Given the description of an element on the screen output the (x, y) to click on. 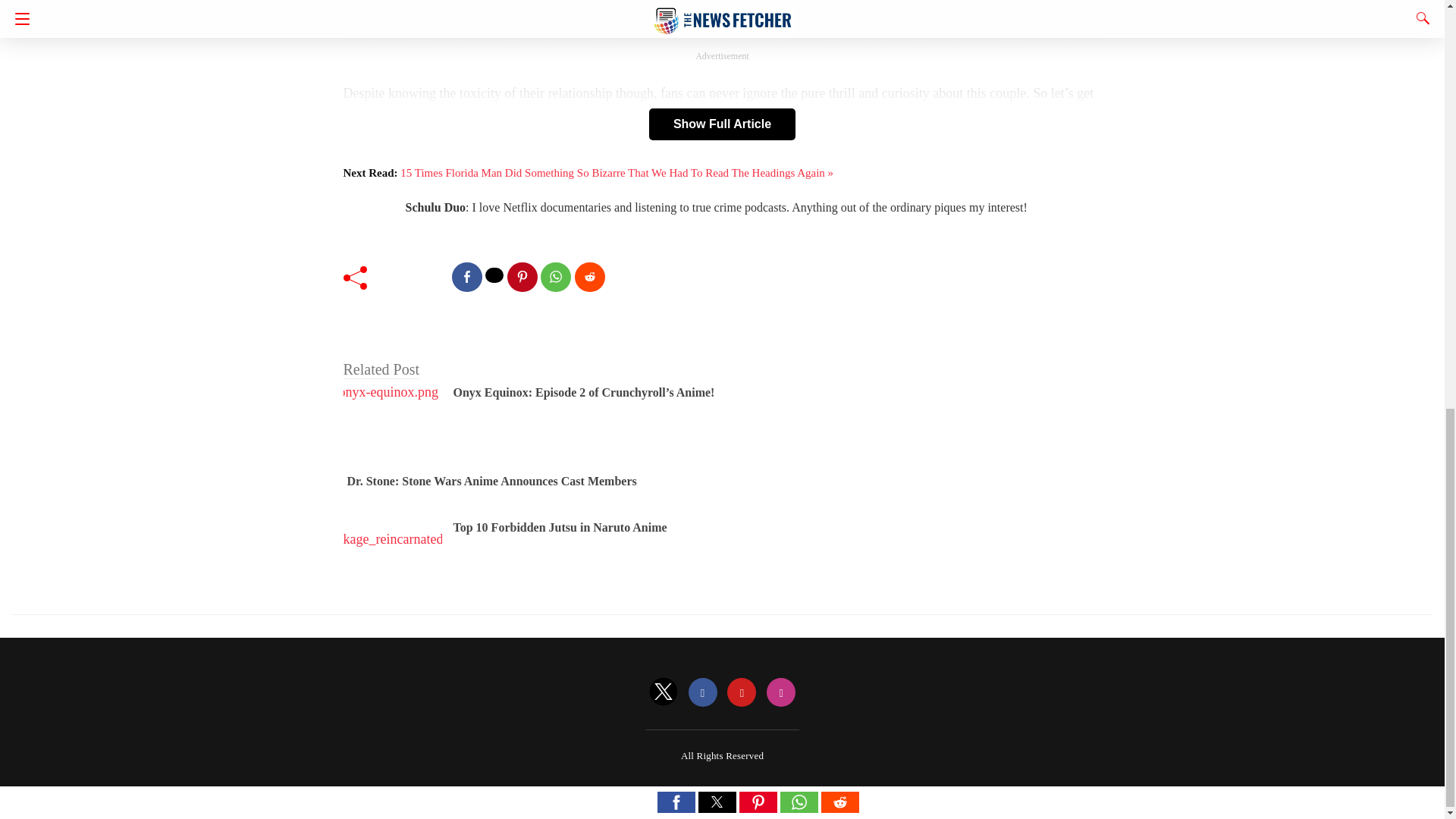
twitter profile (663, 693)
whatsapp share (555, 276)
pinterest share (521, 276)
facebook profile (702, 693)
Show Full Article (721, 124)
Dr. Stone: Stone Wars Anime Announces Cast Members (492, 481)
youtube profile (740, 693)
reddit share (590, 276)
Top 10 Forbidden Jutsu in Naruto Anime (559, 526)
facebook share (466, 276)
Facebook like button (414, 275)
Top 10 Forbidden Jutsu in Naruto Anime (559, 526)
Dr. Stone: Stone Wars Anime Announces Cast Members (492, 481)
3rd party ad content (722, 19)
twitter share (493, 274)
